Given the description of an element on the screen output the (x, y) to click on. 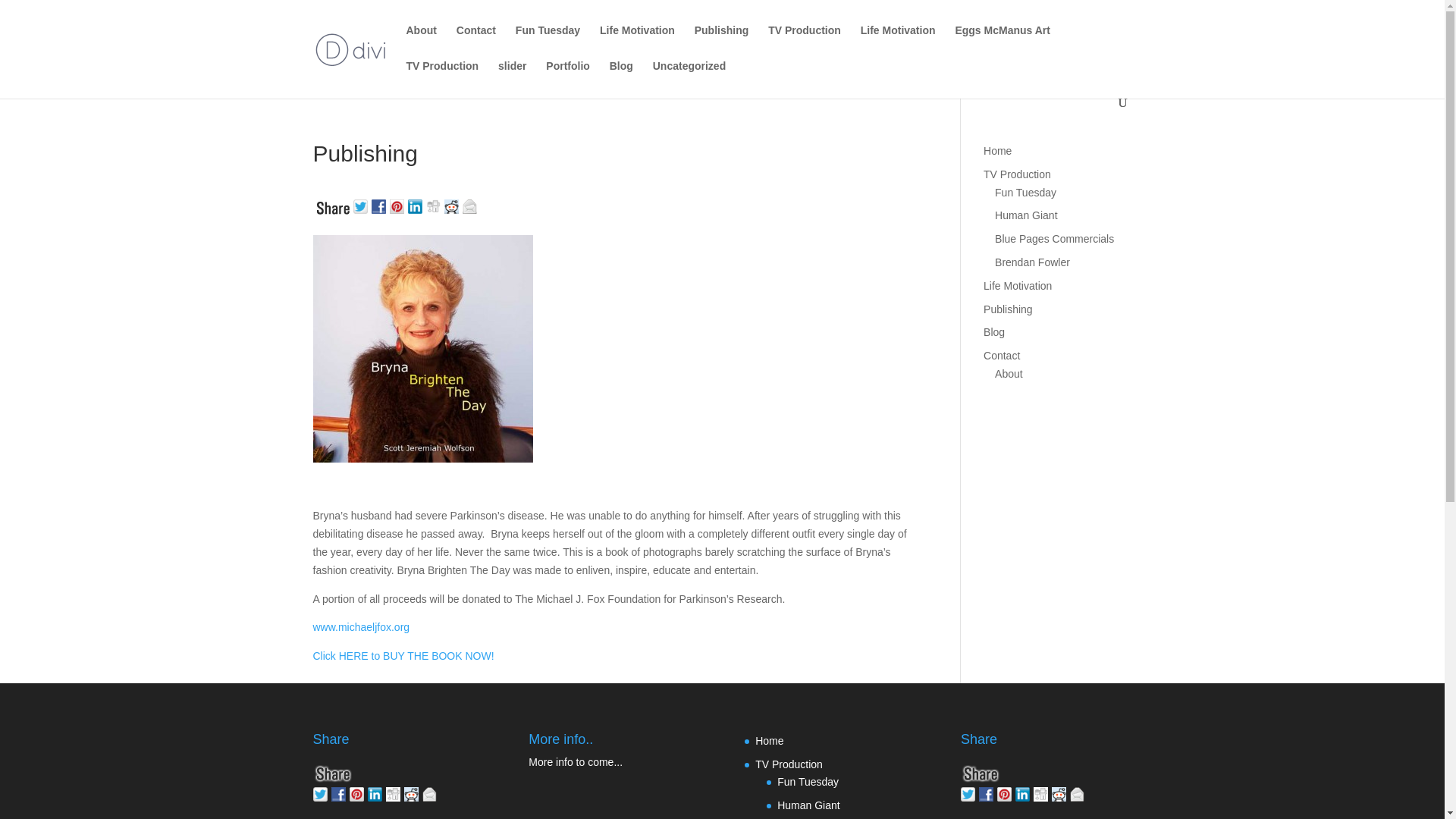
Reddit (453, 204)
Fun Tuesday (547, 42)
Email (471, 204)
Email (430, 791)
Digg (435, 204)
Reddit (412, 791)
Uncategorized (688, 78)
Facebook (380, 204)
Bryna cover (422, 348)
TV Production (1017, 174)
Linkedin (375, 791)
Pinterest (357, 791)
Pinterest (398, 204)
Home (997, 150)
Eggs McManus Art (1002, 42)
